Given the description of an element on the screen output the (x, y) to click on. 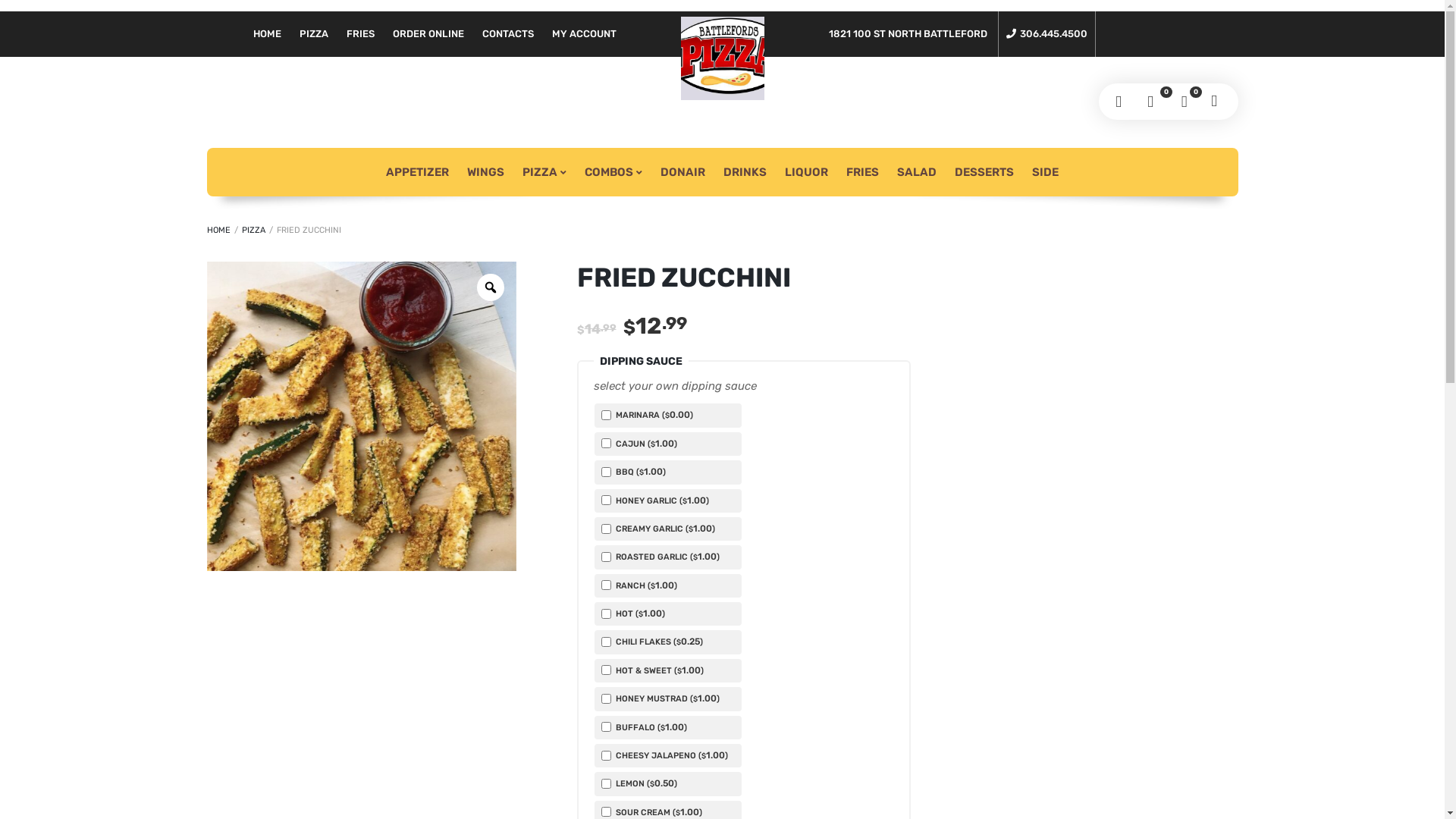
DONAIR Element type: text (682, 171)
1821 100 ST NORTH BATTLEFORD Element type: text (907, 33)
0 Element type: text (1152, 101)
HOME Element type: text (217, 230)
Search Products Element type: text (15, 13)
DESSERTS Element type: text (984, 171)
SIDE Element type: text (1045, 171)
LIQUOR Element type: text (806, 171)
My Account Element type: hover (1120, 101)
MY ACCOUNT Element type: text (584, 33)
ORDER ONLINE Element type: text (428, 33)
PIZZA Element type: text (252, 230)
306.445.4500 Element type: text (1045, 33)
PIZZA Element type: text (544, 171)
Battleford's pizza And Donairs -North Battlefords Element type: hover (722, 58)
CONTACTS Element type: text (507, 33)
COMBOS Element type: text (613, 171)
bd23beed4b286039c2a4b468db8d00a7 Element type: hover (360, 416)
Search Element type: hover (1216, 101)
APPETIZER Element type: text (417, 171)
DRINKS Element type: text (744, 171)
0 Element type: text (1184, 101)
PIZZA Element type: text (313, 33)
FRIES Element type: text (862, 171)
Log in Element type: text (766, 136)
SALAD Element type: text (916, 171)
WINGS Element type: text (485, 171)
FRIES Element type: text (359, 33)
HOME Element type: text (266, 33)
